Given the description of an element on the screen output the (x, y) to click on. 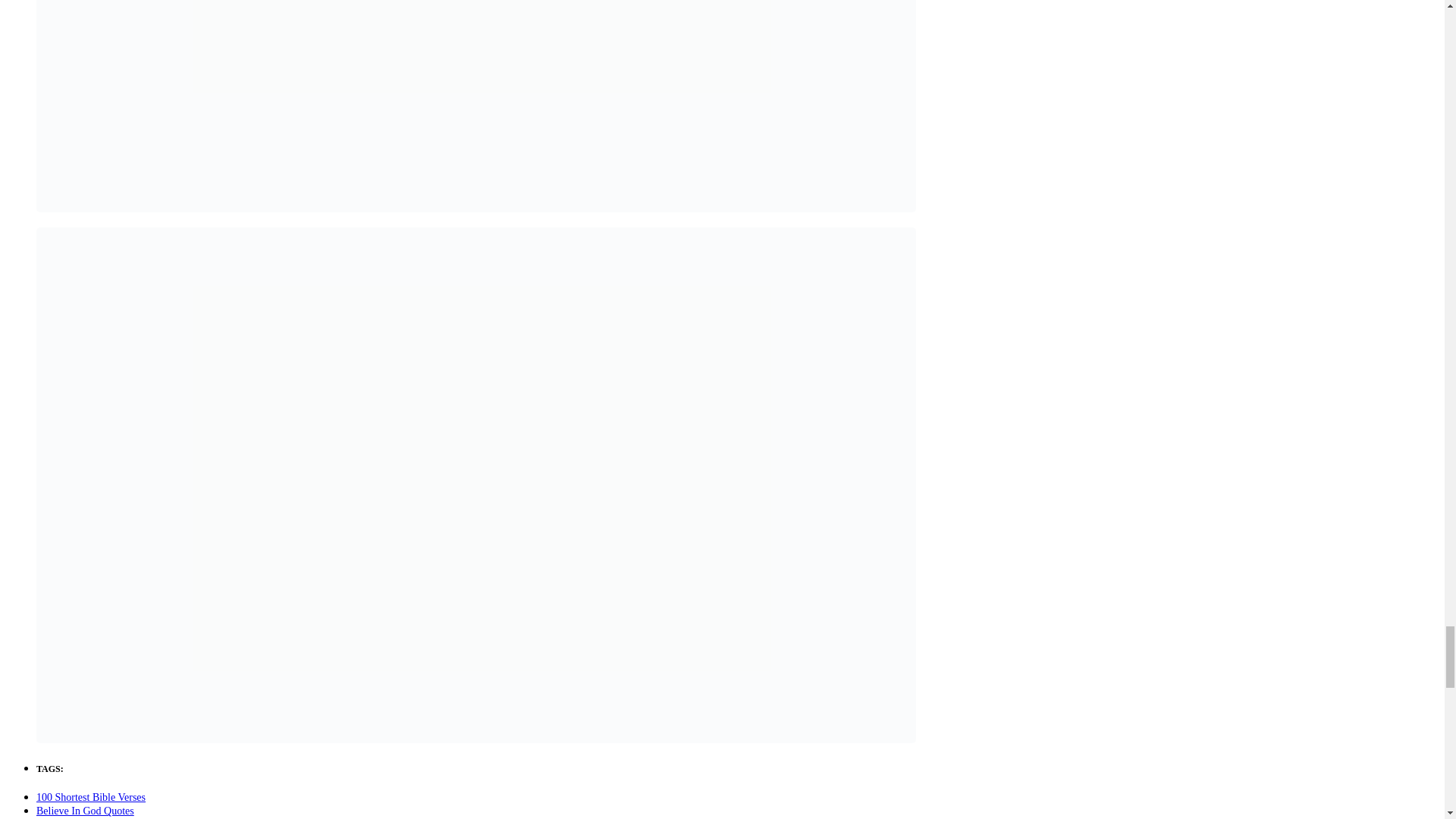
100 Shortest Bible Verses (90, 797)
Believe In God Quotes (84, 810)
